Given the description of an element on the screen output the (x, y) to click on. 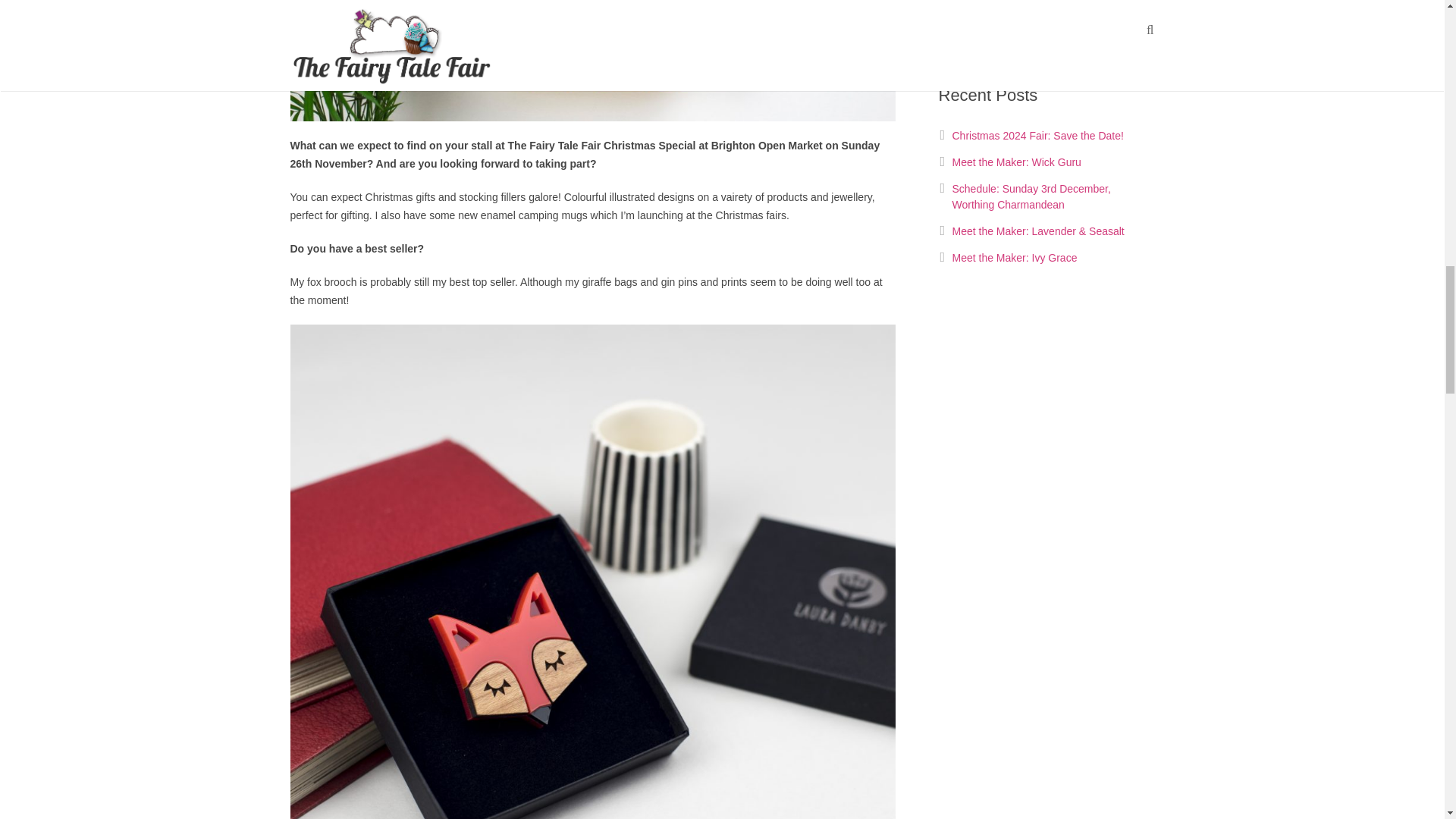
Christmas 2024 Fair: Save the Date! (1038, 135)
Meet the Maker: Wick Guru (1016, 162)
Schedule: Sunday 3rd December, Worthing Charmandean (1031, 196)
